Given the description of an element on the screen output the (x, y) to click on. 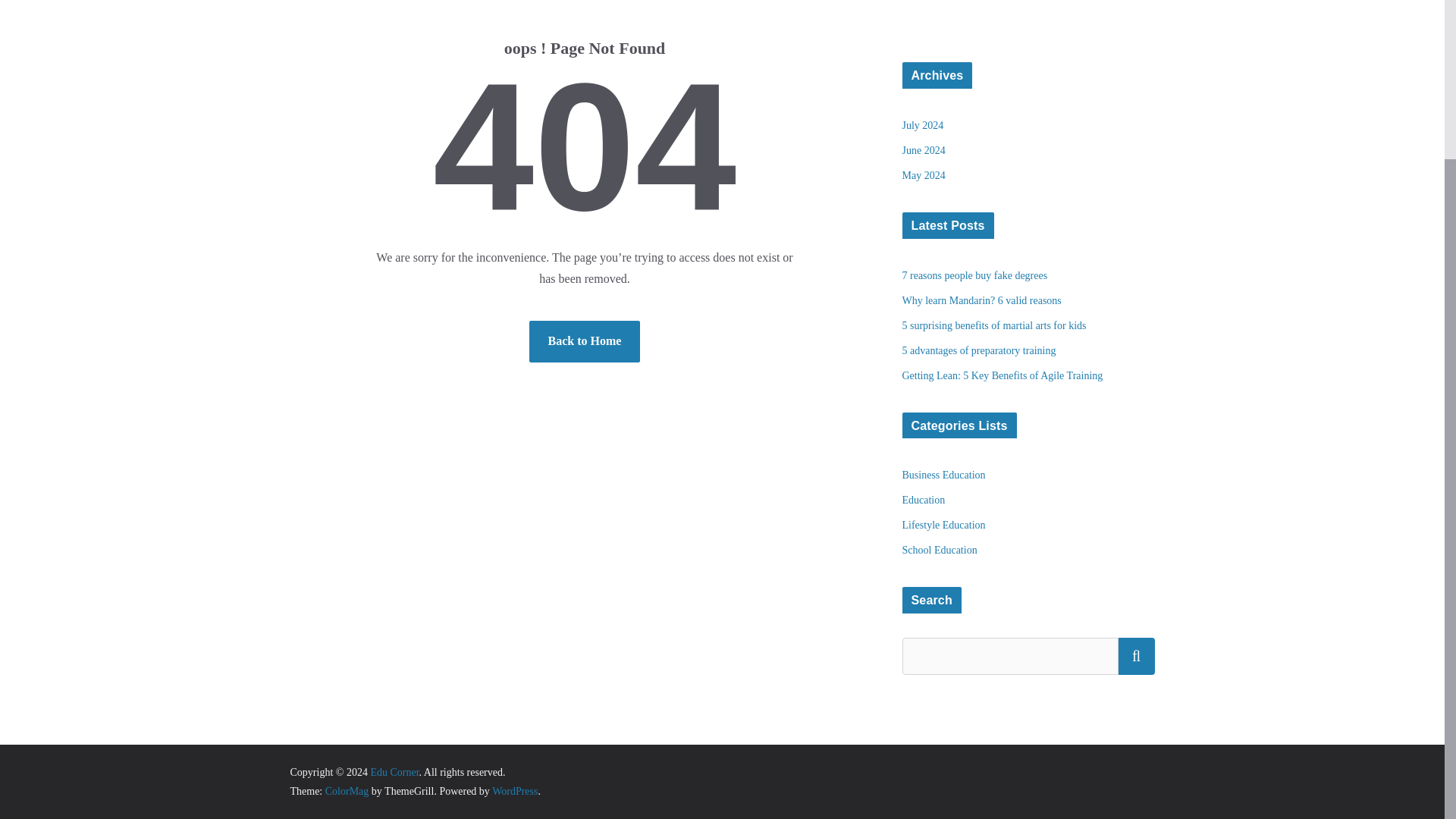
May 2024 (923, 174)
WordPress (514, 790)
Lifestyle Education (943, 524)
5 surprising benefits of martial arts for kids (994, 325)
ColorMag (346, 790)
July 2024 (922, 125)
Getting Lean: 5 Key Benefits of Agile Training (1002, 375)
Why learn Mandarin? 6 valid reasons (981, 300)
Edu Corner (394, 772)
Back to Home (584, 341)
